Given the description of an element on the screen output the (x, y) to click on. 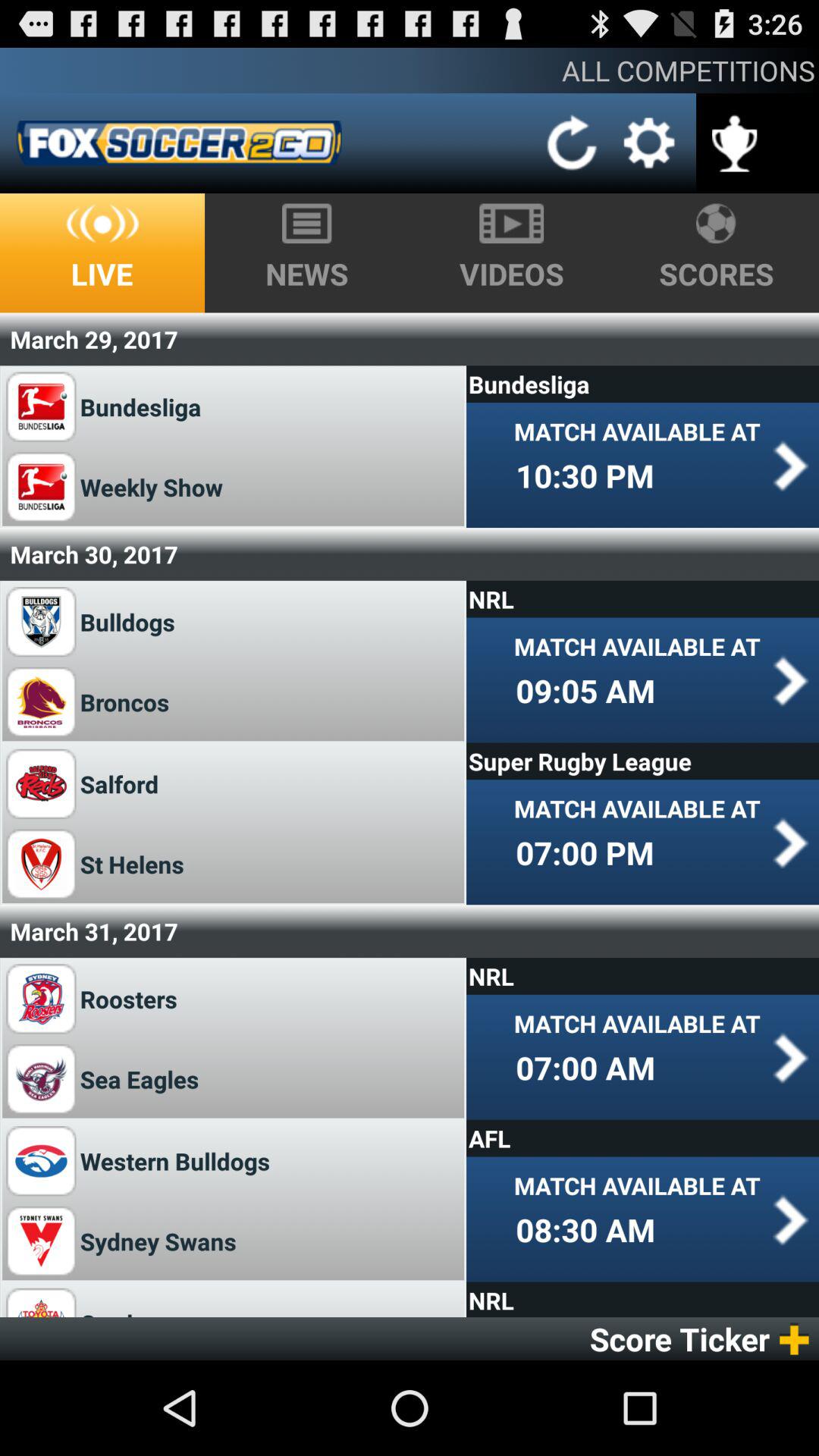
choose the app next to the 08:30 am (158, 1241)
